Given the description of an element on the screen output the (x, y) to click on. 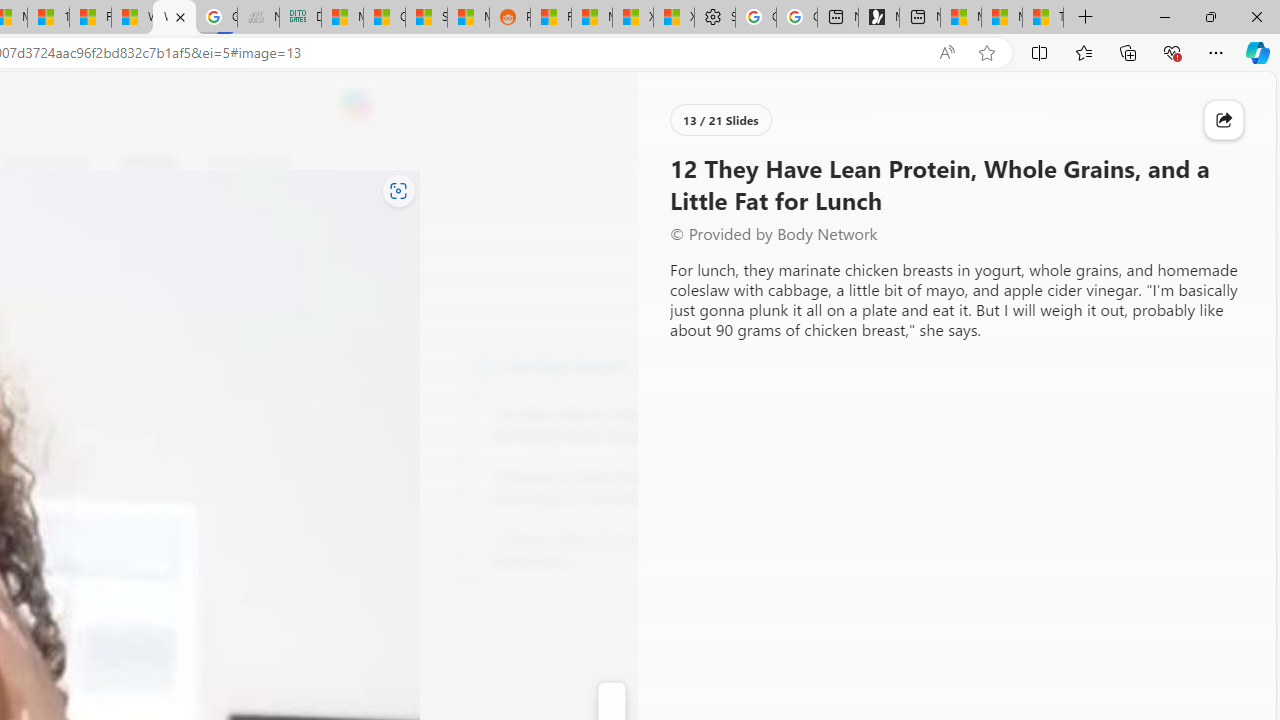
Personalize (711, 162)
Go to publisher's site (180, 258)
